Given the description of an element on the screen output the (x, y) to click on. 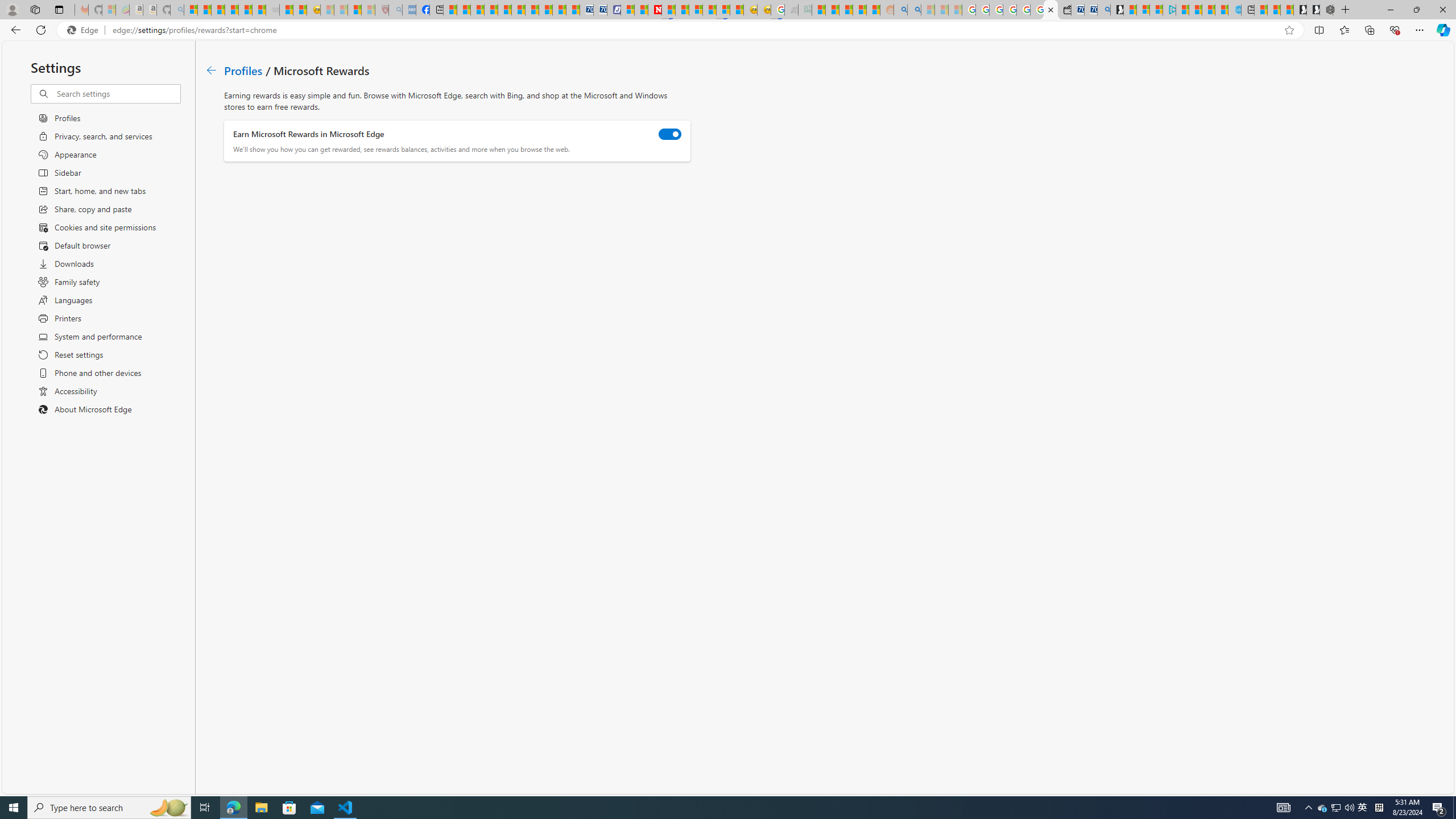
Go back to Profiles page. (210, 70)
